Given the description of an element on the screen output the (x, y) to click on. 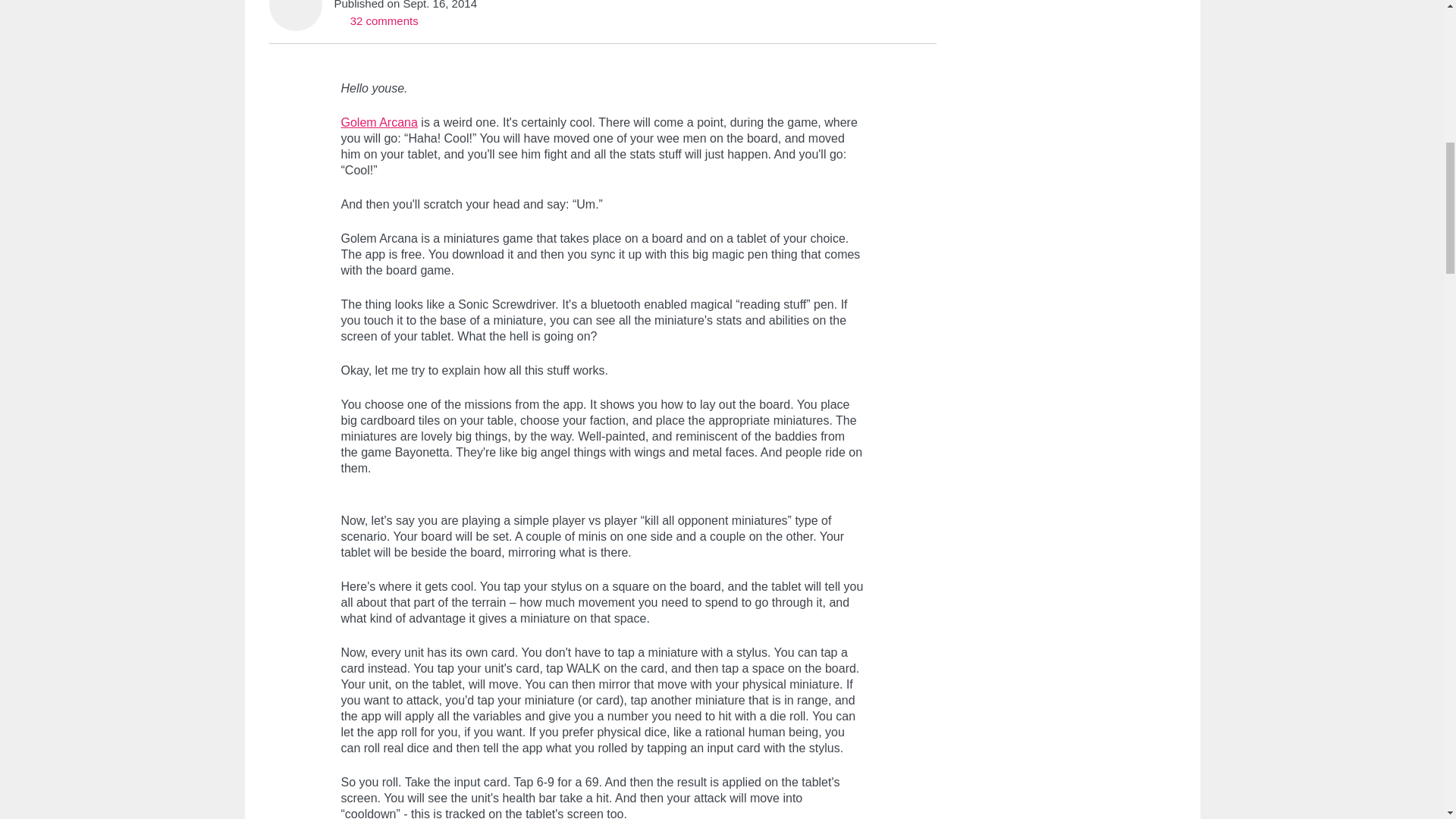
32 comments (375, 20)
Golem Arcana (378, 122)
